Given the description of an element on the screen output the (x, y) to click on. 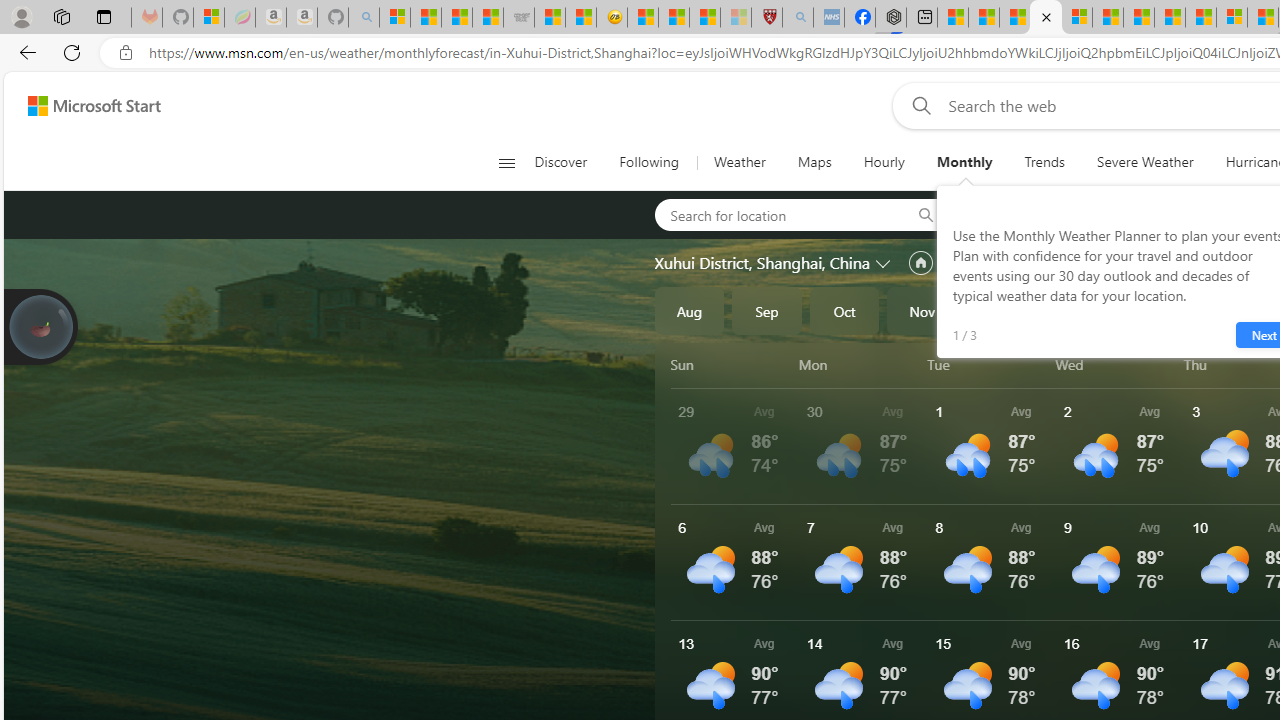
Recipes - MSN (642, 17)
Class: button-glyph (505, 162)
Severe Weather (1145, 162)
Set as primary location (920, 263)
Mar (1233, 310)
Sep (767, 310)
12 Popular Science Lies that Must be Corrected - Sleeping (735, 17)
Remove location (1149, 214)
Skip to footer (82, 105)
Aug (689, 310)
